Given the description of an element on the screen output the (x, y) to click on. 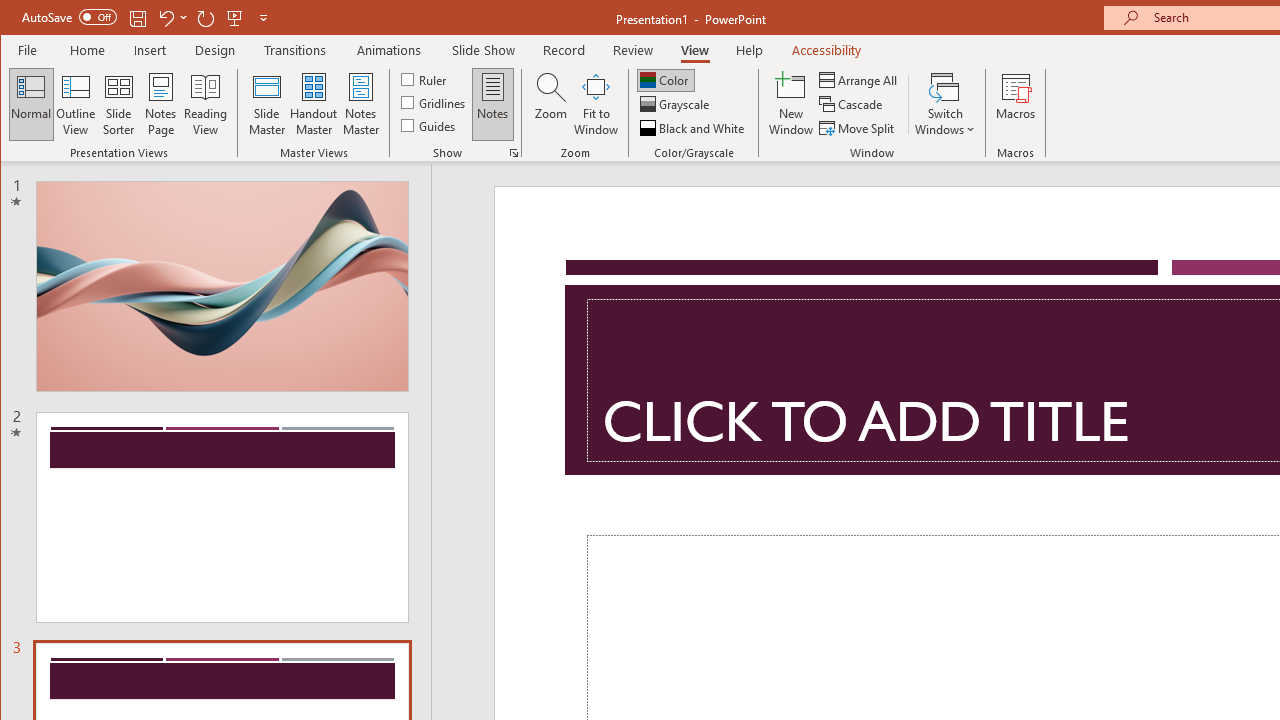
Macros (1016, 104)
Arrange All (859, 80)
Move Split (858, 127)
